Given the description of an element on the screen output the (x, y) to click on. 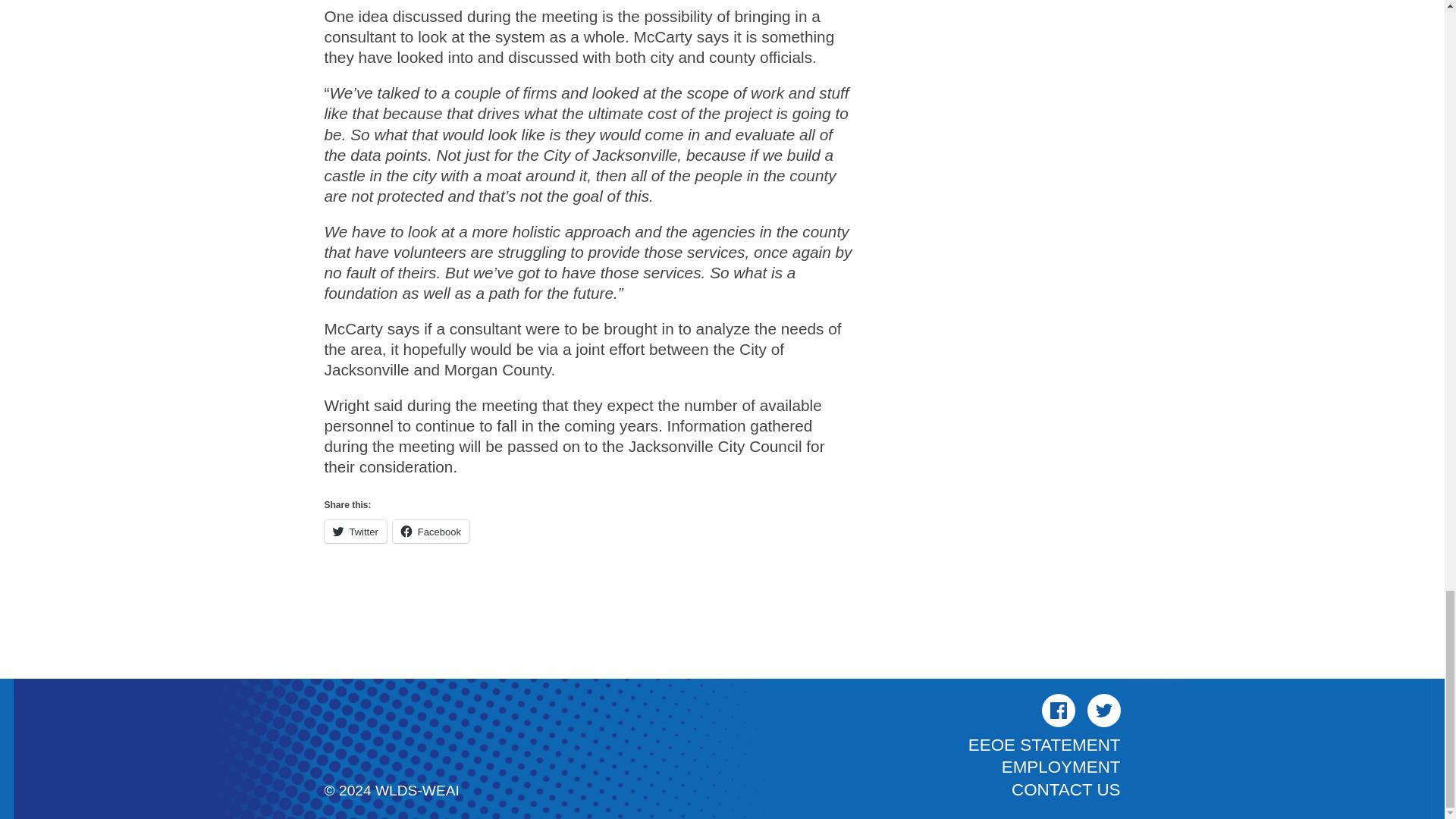
Click to share on Twitter (355, 531)
Twitter (355, 531)
Facebook (1058, 710)
Click to share on Facebook (430, 531)
Facebook (430, 531)
